Given the description of an element on the screen output the (x, y) to click on. 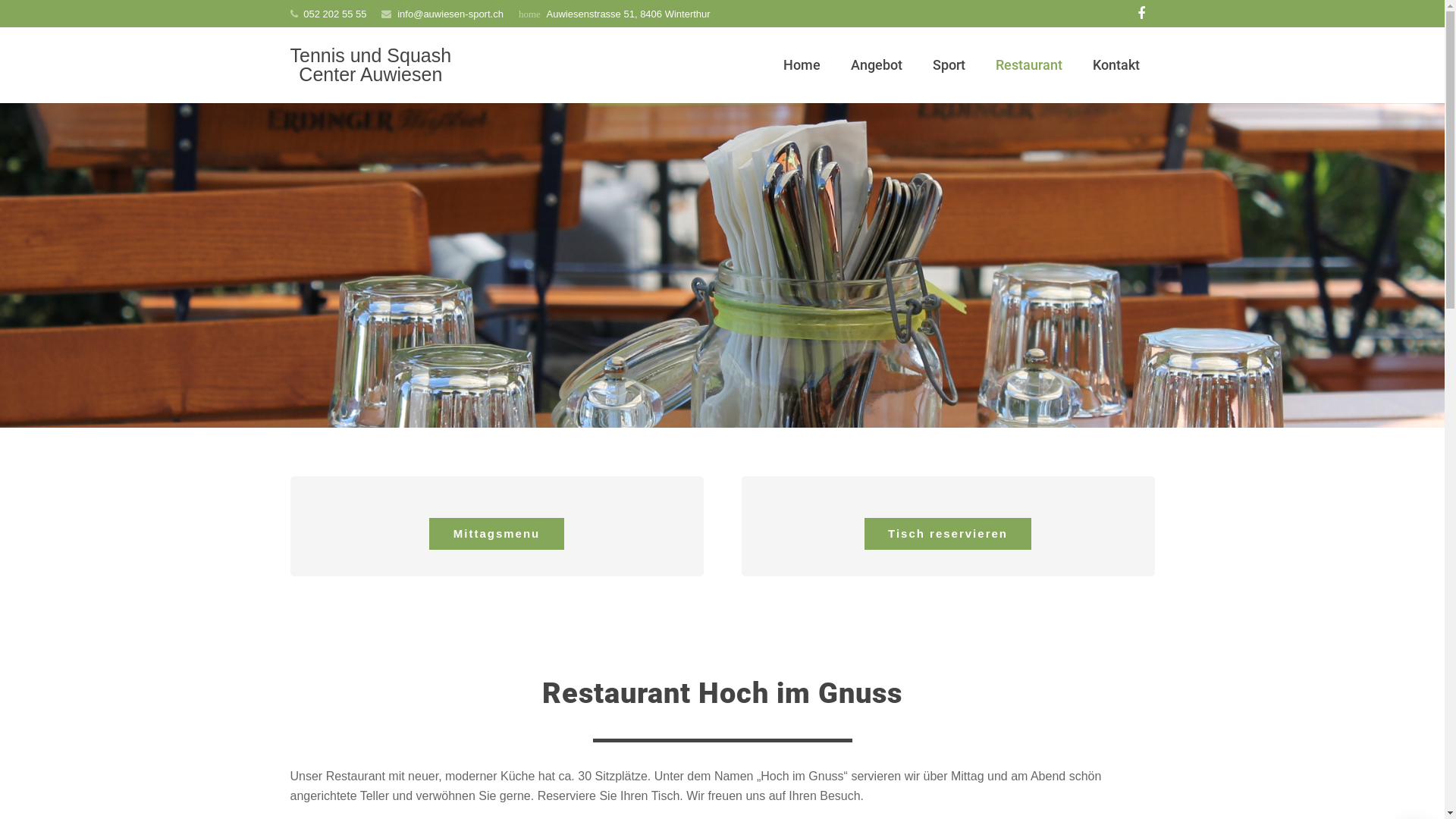
Kontakt Element type: text (1115, 65)
Sport Element type: text (948, 65)
Angebot Element type: text (876, 65)
Tisch reservieren Element type: text (948, 533)
info@auwiesen-sport.ch Element type: text (450, 12)
Mittagsmenu Element type: text (496, 533)
Tennis und Squash
Center Auwiesen Element type: text (370, 64)
Home Element type: text (801, 65)
Restaurant Element type: text (1028, 65)
